Given the description of an element on the screen output the (x, y) to click on. 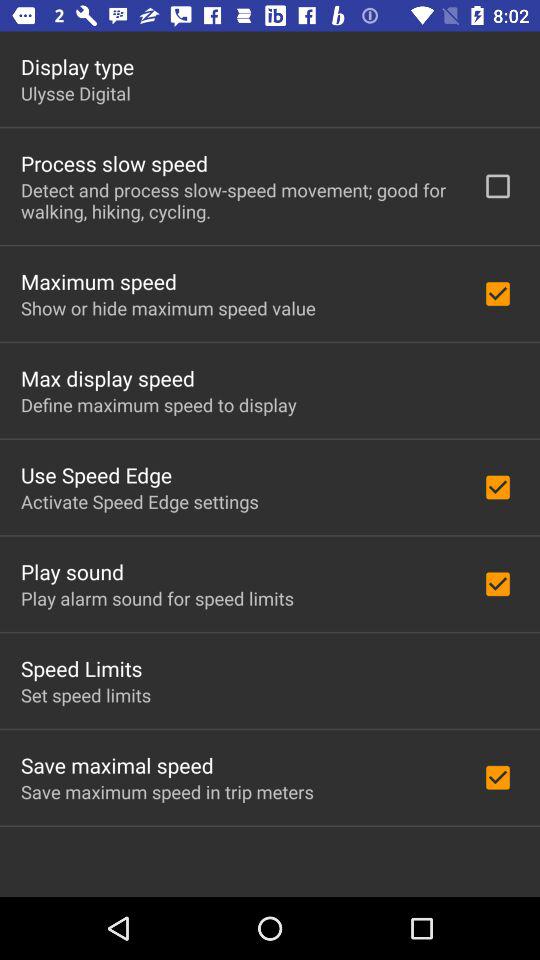
choose icon above process slow speed item (75, 93)
